Given the description of an element on the screen output the (x, y) to click on. 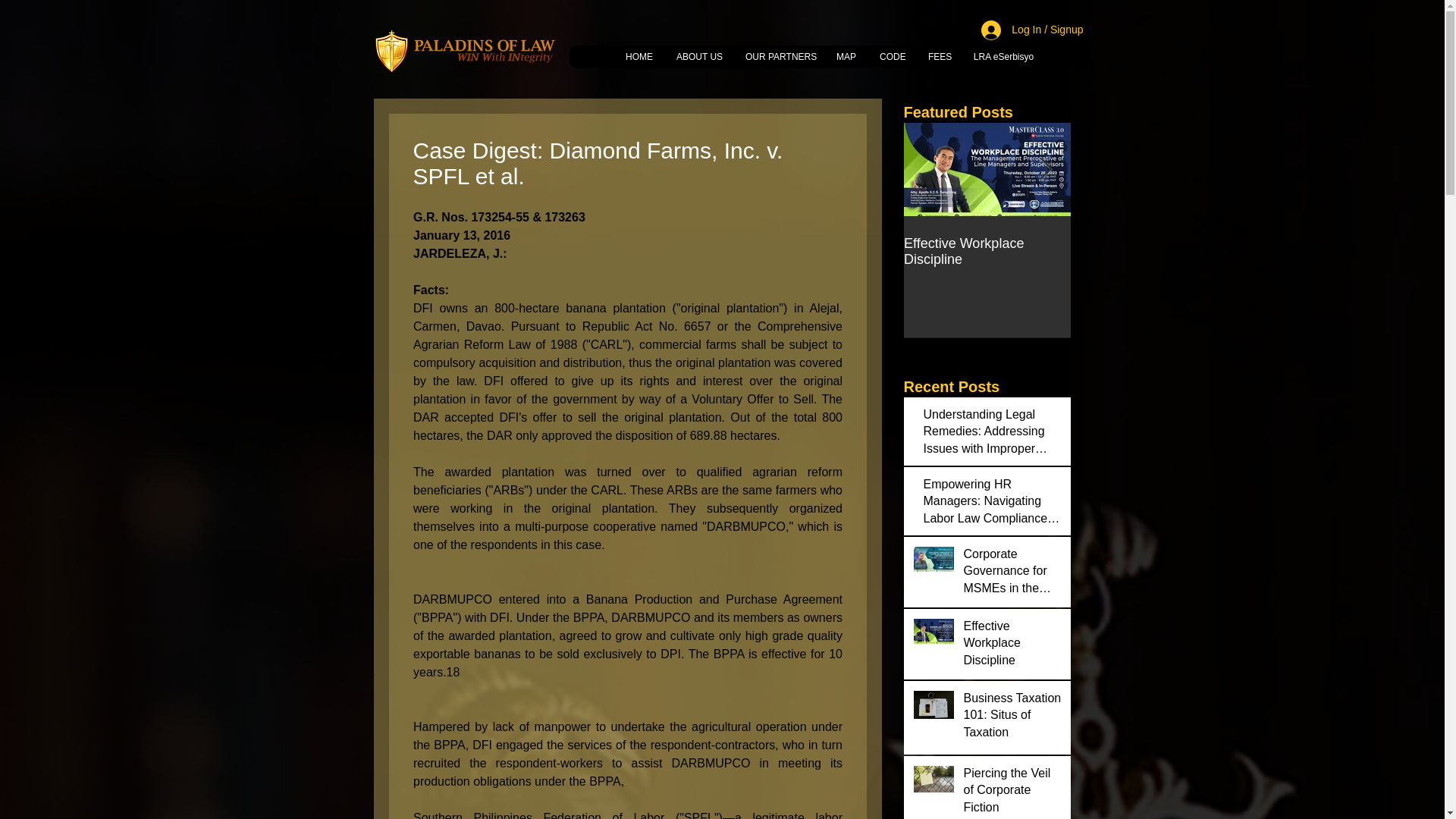
HOME (637, 56)
Corporate Governance for MSMEs in the Philippines (1011, 574)
Effective Workplace Discipline (1011, 646)
LRA eSerbisyo (1002, 56)
MAP (845, 56)
CODE (891, 56)
Effective Workplace Discipline (987, 251)
OUR PARTNERS (778, 56)
